Given the description of an element on the screen output the (x, y) to click on. 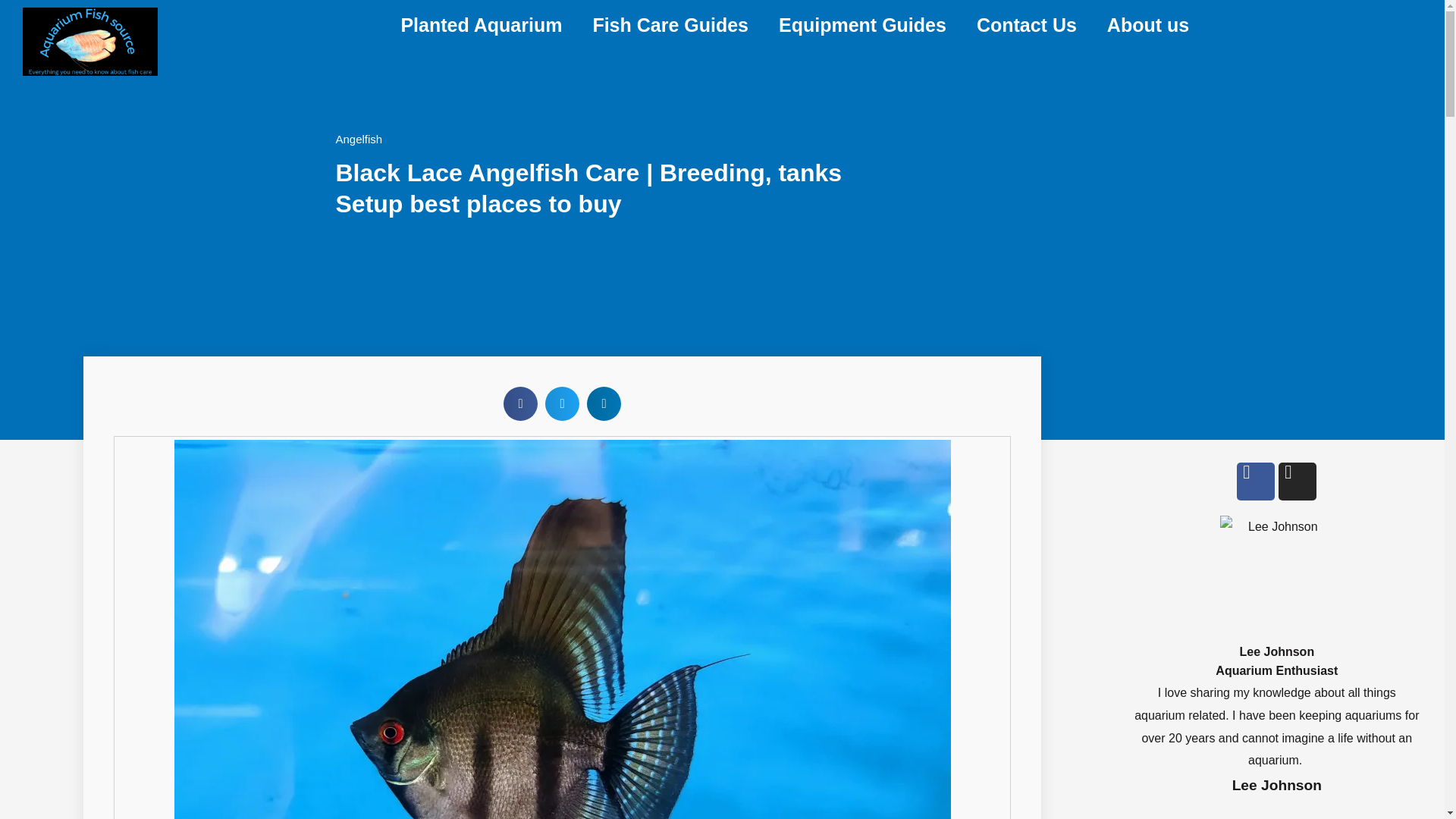
Angelfish (357, 138)
Equipment Guides (861, 24)
Fish Care Guides (669, 24)
About us (1148, 24)
Planted Aquarium (480, 24)
Contact Us (1026, 24)
